Given the description of an element on the screen output the (x, y) to click on. 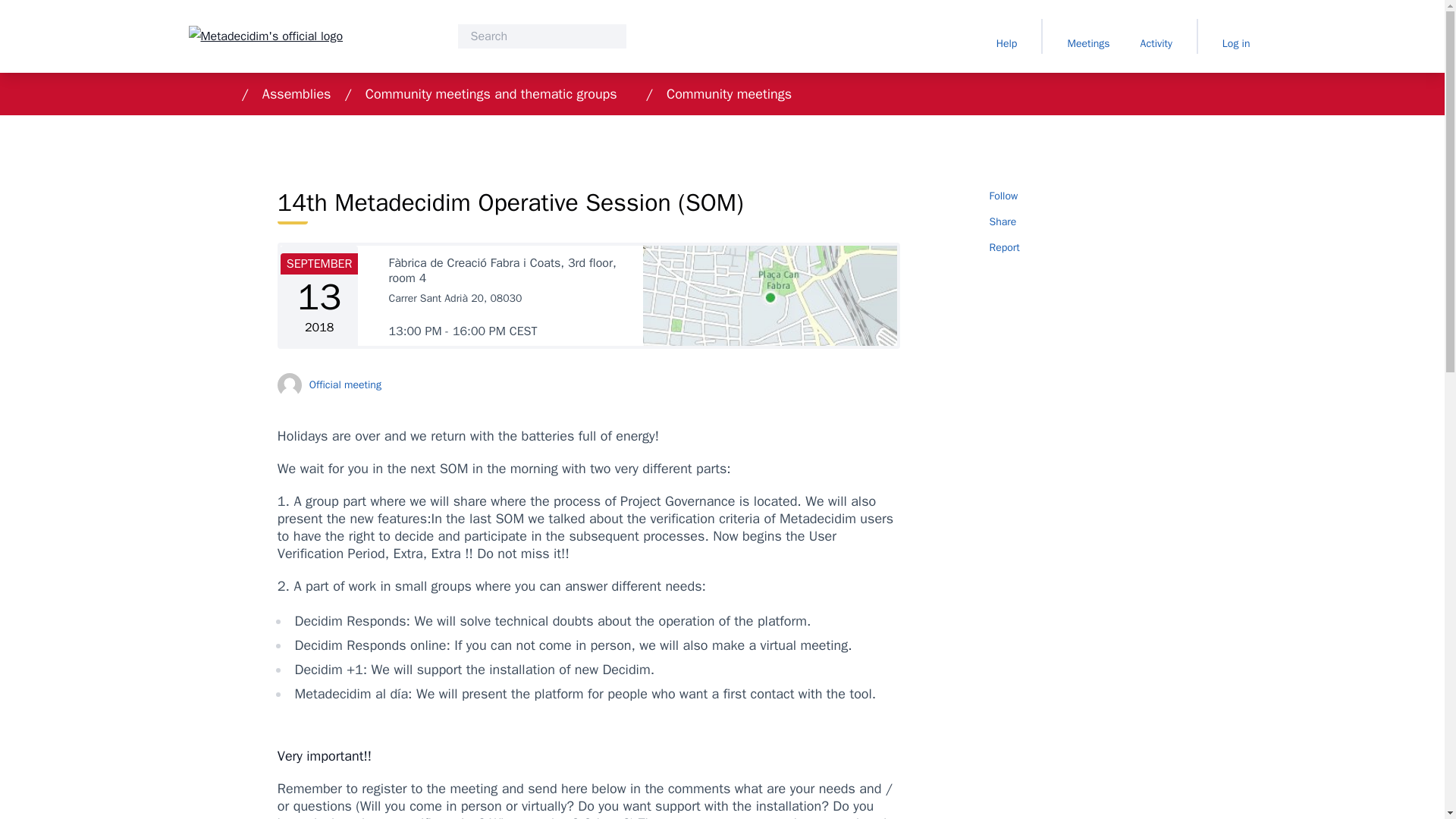
Share (1077, 222)
Please log in before performing this action (1010, 196)
Meetings (1088, 36)
Search (542, 36)
Activity (1155, 36)
Log in (1235, 36)
Report (1077, 247)
Help (1006, 36)
